Given the description of an element on the screen output the (x, y) to click on. 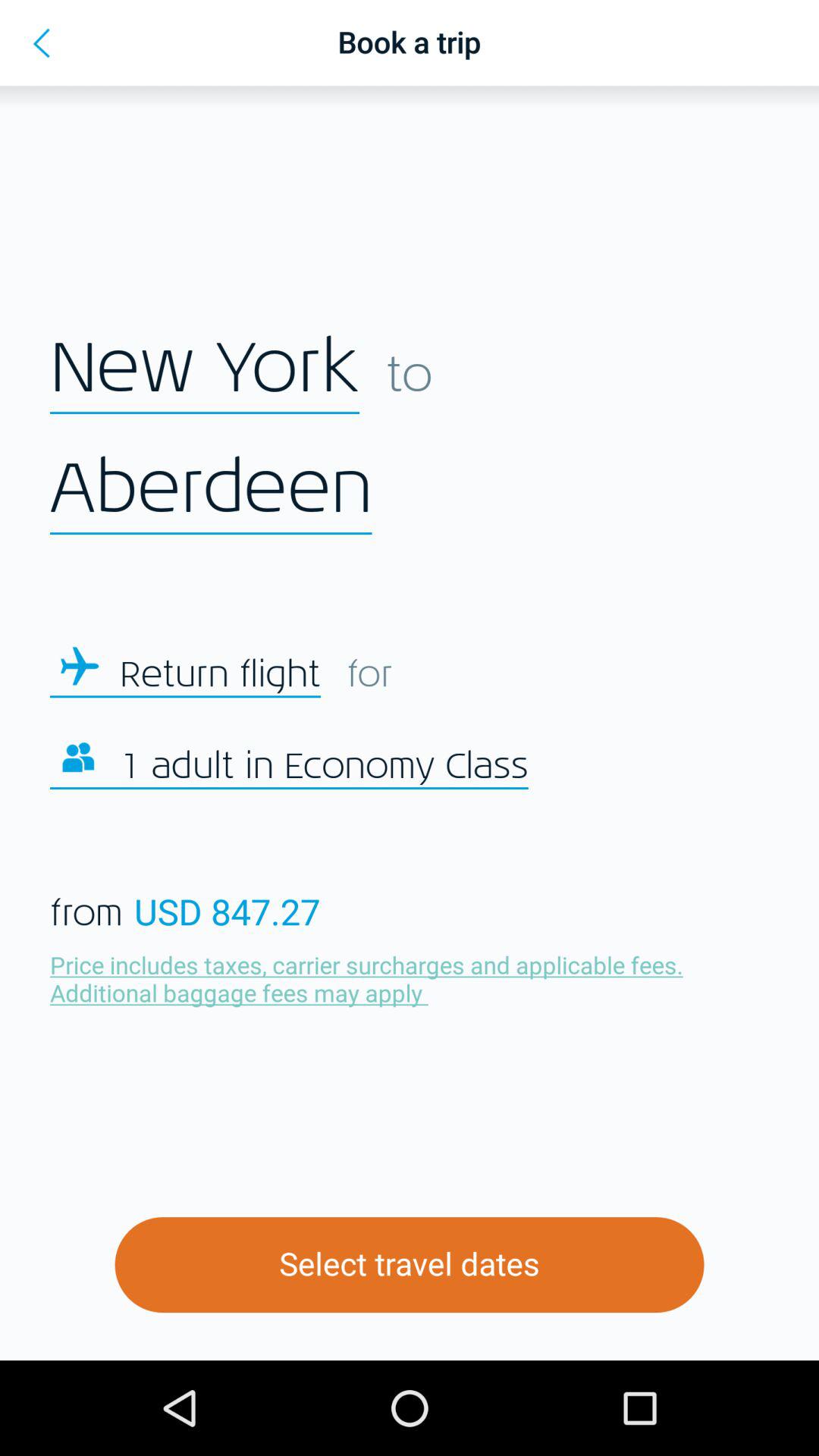
swipe to new york item (204, 368)
